Given the description of an element on the screen output the (x, y) to click on. 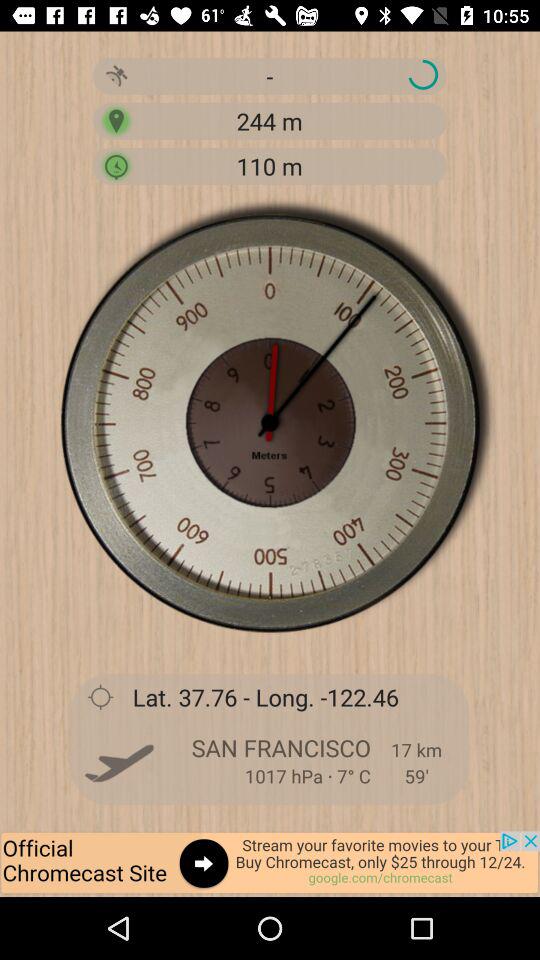
advertisement page (270, 864)
